Given the description of an element on the screen output the (x, y) to click on. 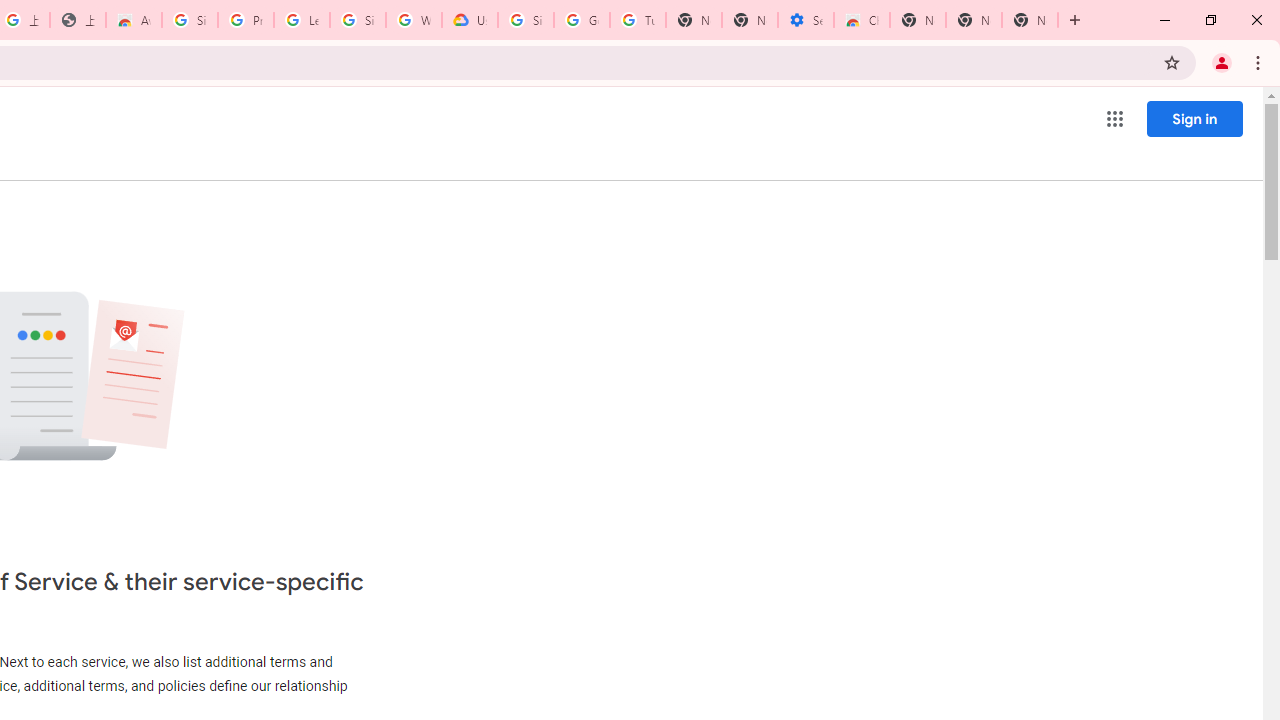
Settings - Accessibility (806, 20)
Who are Google's partners? - Privacy and conditions - Google (413, 20)
Chrome Web Store - Accessibility extensions (861, 20)
Google Account Help (582, 20)
